Given the description of an element on the screen output the (x, y) to click on. 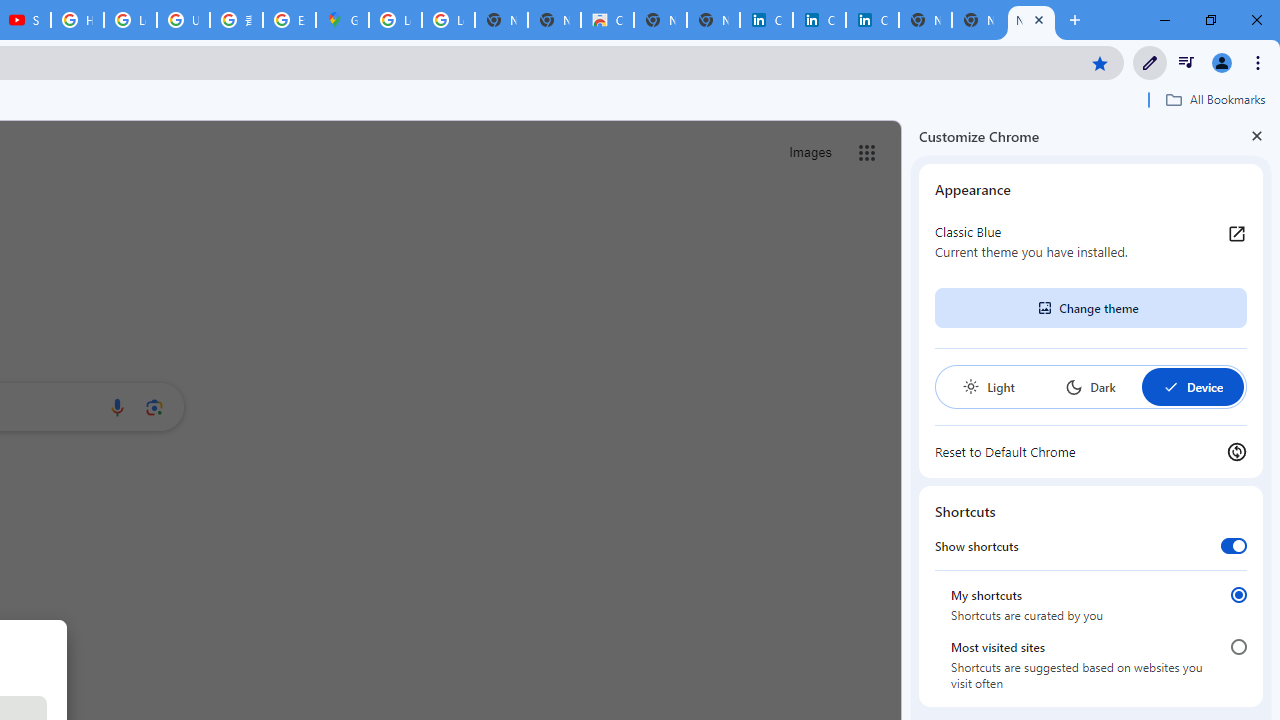
Cookie Policy | LinkedIn (766, 20)
Customize Chrome (1149, 62)
New Tab (1031, 20)
